Given the description of an element on the screen output the (x, y) to click on. 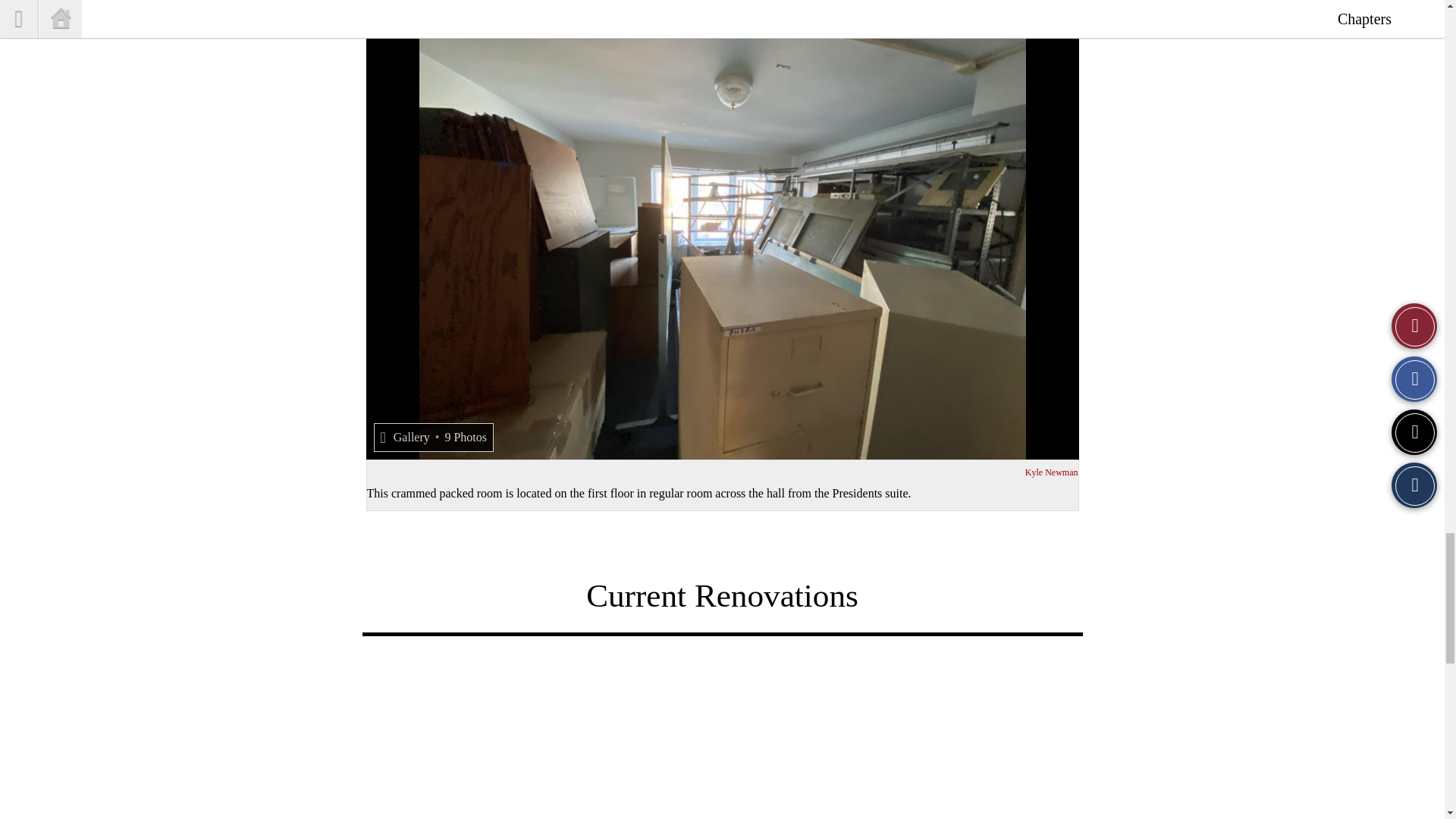
jolliffe Hall Video (721, 740)
